Given the description of an element on the screen output the (x, y) to click on. 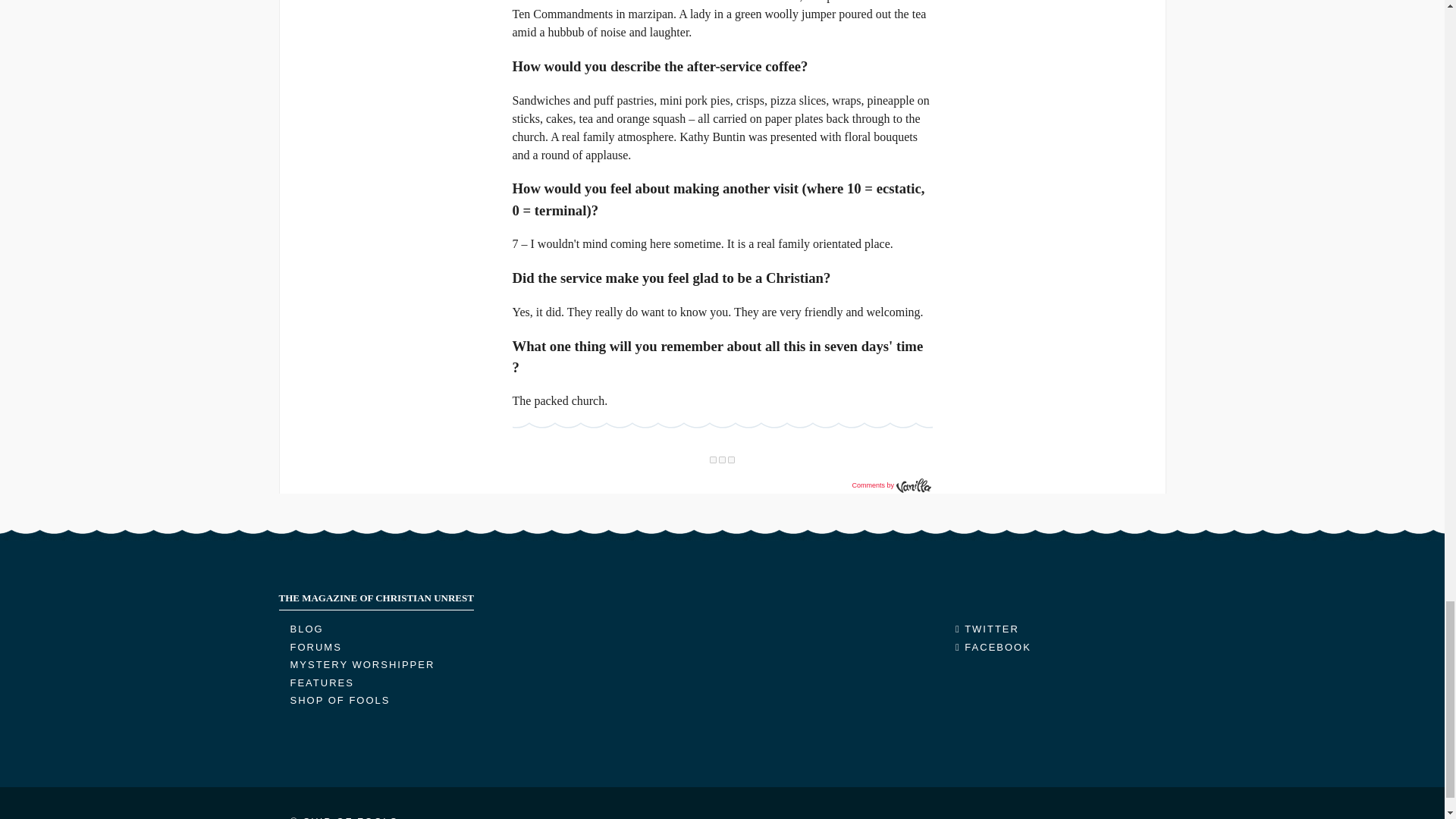
FEATURES (321, 682)
Comments by Vanilla (890, 484)
TWITTER (987, 628)
FACEBOOK (992, 646)
BLOG (306, 628)
FORUMS (314, 646)
SHOP OF FOOLS (339, 699)
MYSTERY WORSHIPPER (361, 664)
